Given the description of an element on the screen output the (x, y) to click on. 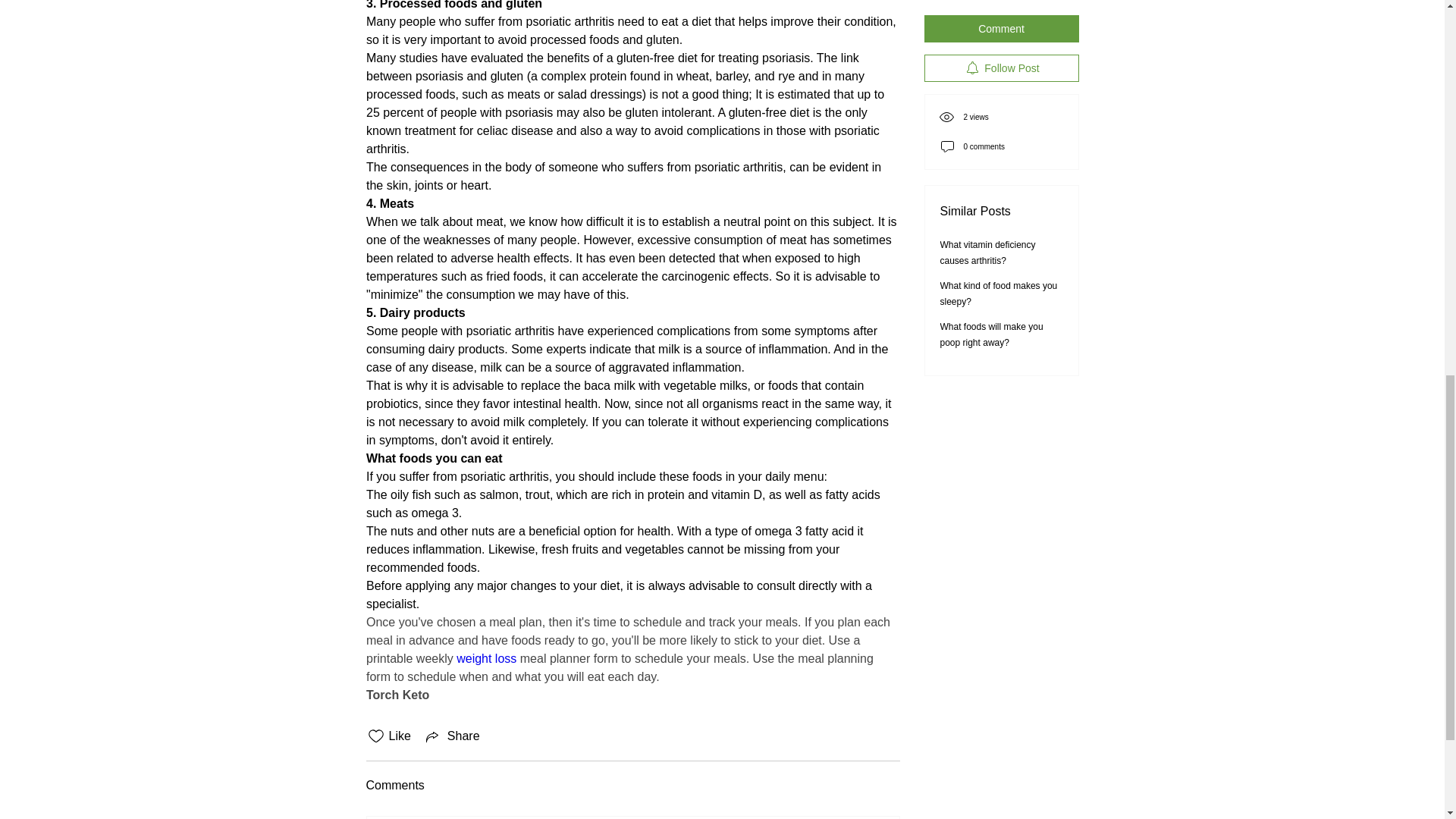
Torch Keto (396, 694)
Share (451, 736)
weight loss (486, 658)
